Given the description of an element on the screen output the (x, y) to click on. 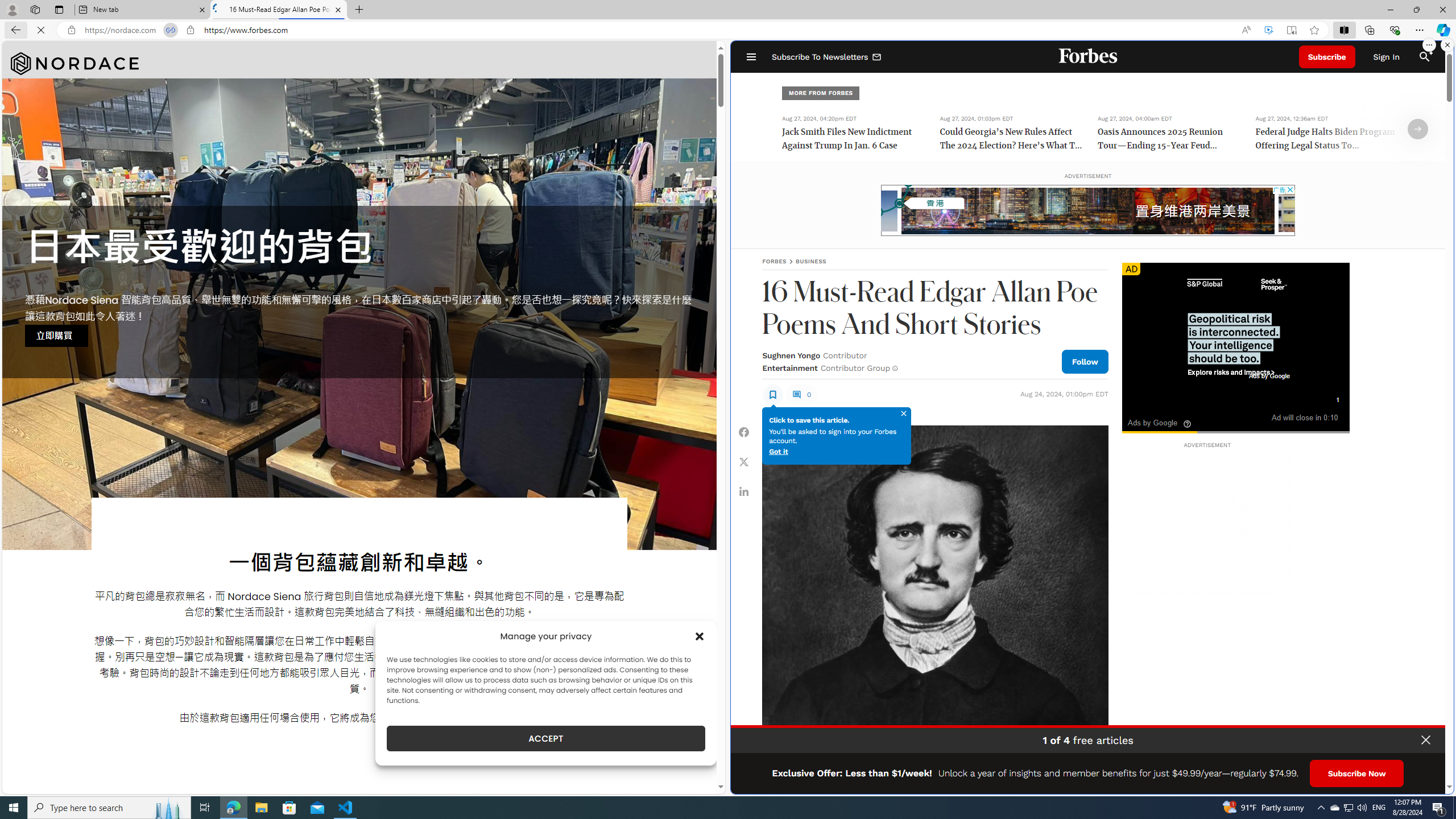
Jack Smith Files New Indictment Against Trump In Jan. 6 Case (853, 139)
Class: cnx-color-icon (1160, 416)
Share Facebook (743, 431)
Forbes Logo (1088, 56)
Share Linkedin (743, 490)
Arrow Right (1417, 129)
Terms (1434, 781)
Enhance video (1268, 29)
FORBES (774, 261)
Class: fs-icon fs-icon--info (894, 368)
Class: fs-icon fs-icon--Facebook (744, 431)
